Given the description of an element on the screen output the (x, y) to click on. 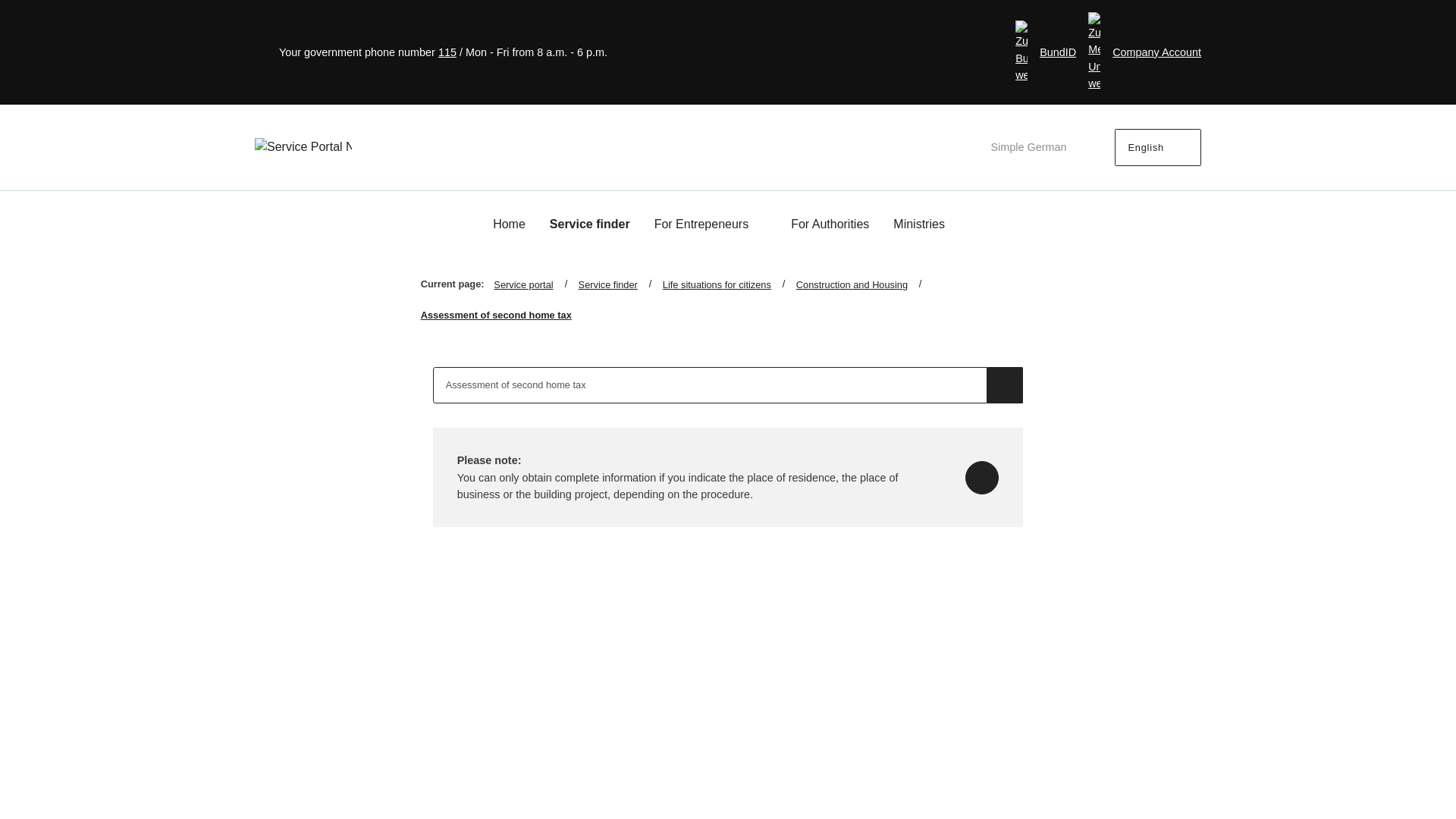
Construction and Housing (864, 285)
Service finder (590, 223)
Service finder (590, 223)
Home (509, 223)
Go to service portal home page (303, 147)
Life situations for citizens (729, 285)
Service finder (620, 285)
Home (509, 223)
Company Account (1144, 52)
115 (447, 51)
Assessment of second home tax (710, 385)
For Entrepeneurs (710, 224)
English (1158, 147)
Specify city or zip code (981, 477)
Ministries (927, 224)
